Given the description of an element on the screen output the (x, y) to click on. 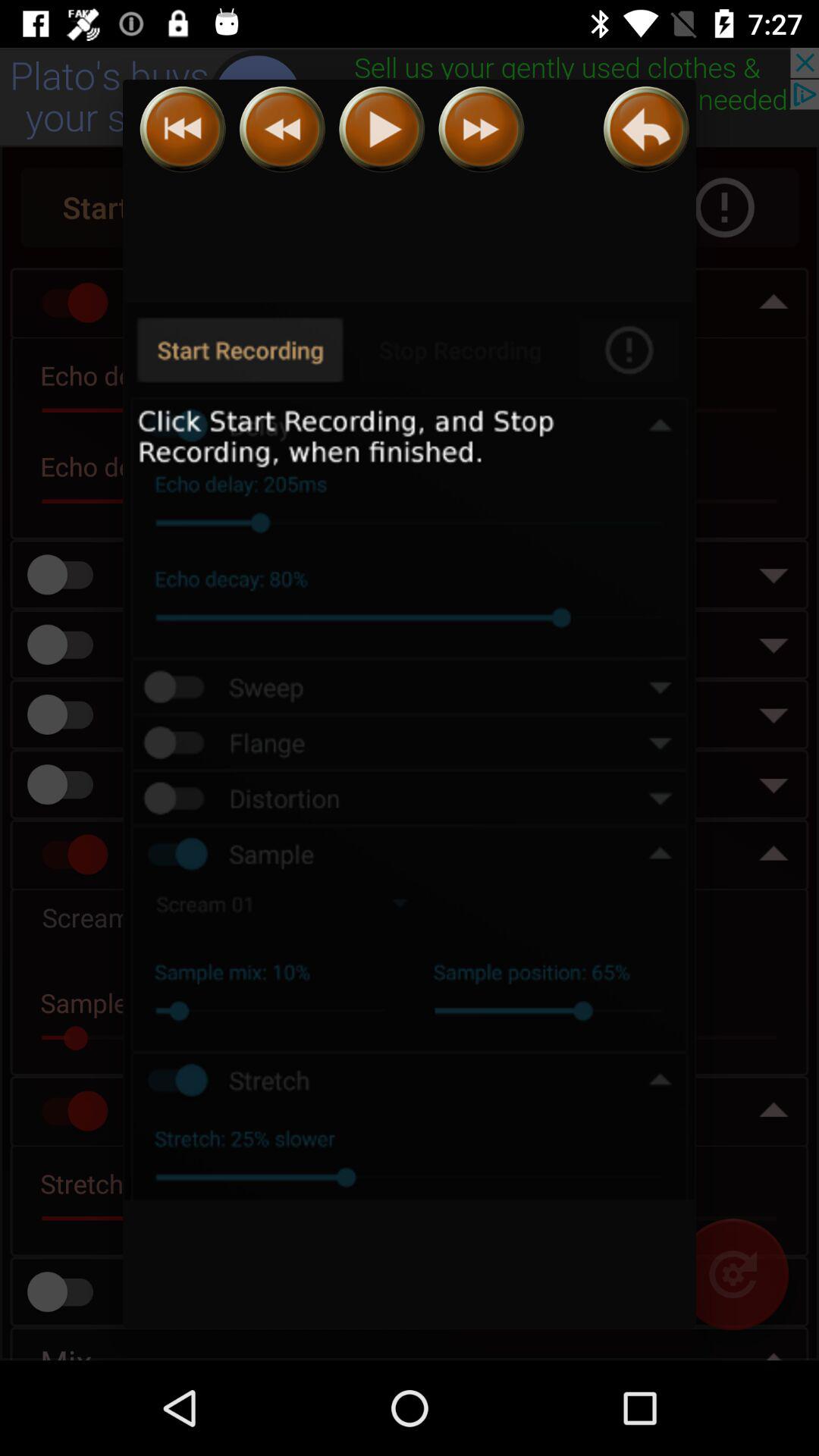
previous button (182, 129)
